Given the description of an element on the screen output the (x, y) to click on. 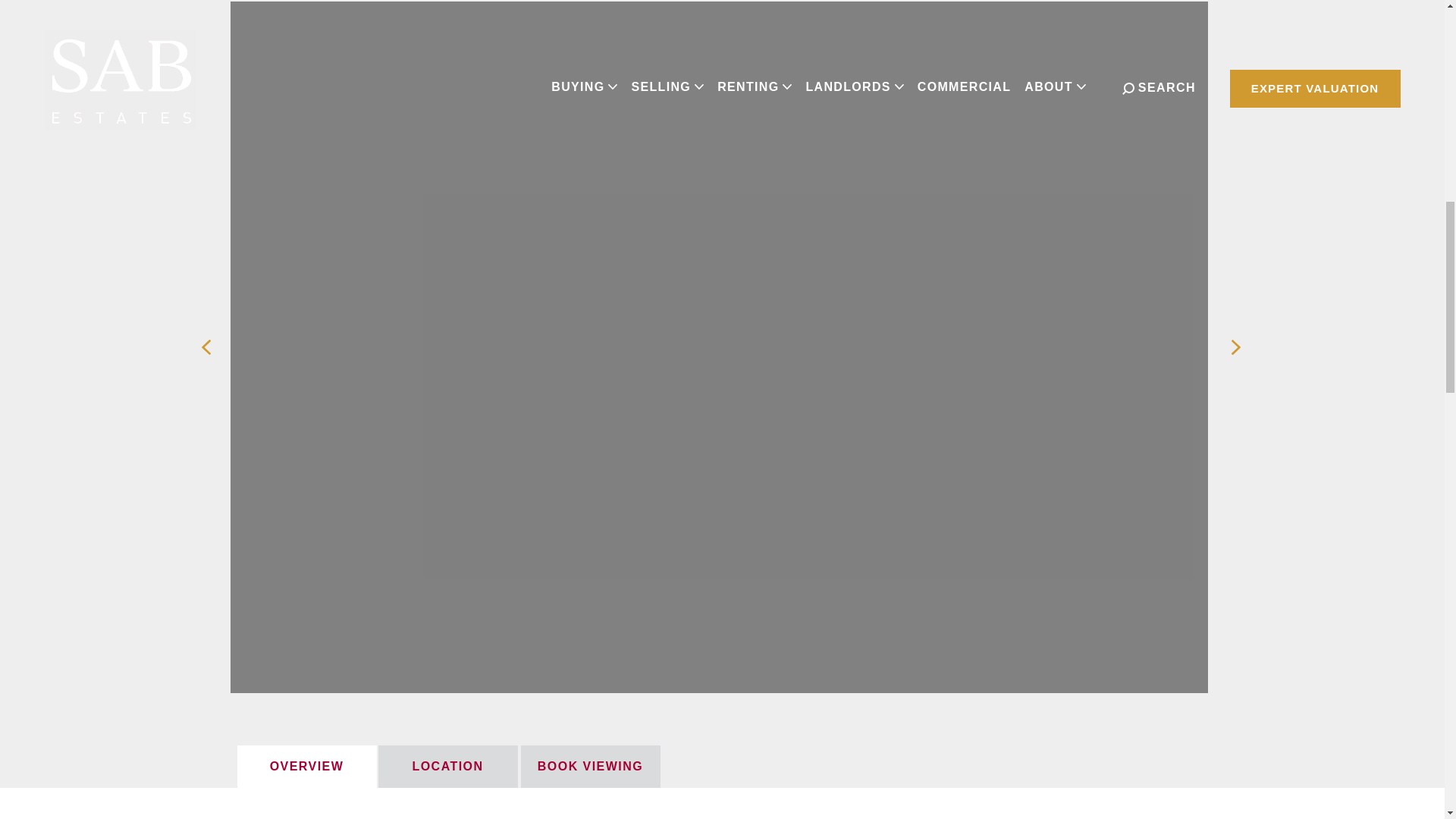
OVERVIEW (305, 766)
LOCATION (446, 766)
